Given the description of an element on the screen output the (x, y) to click on. 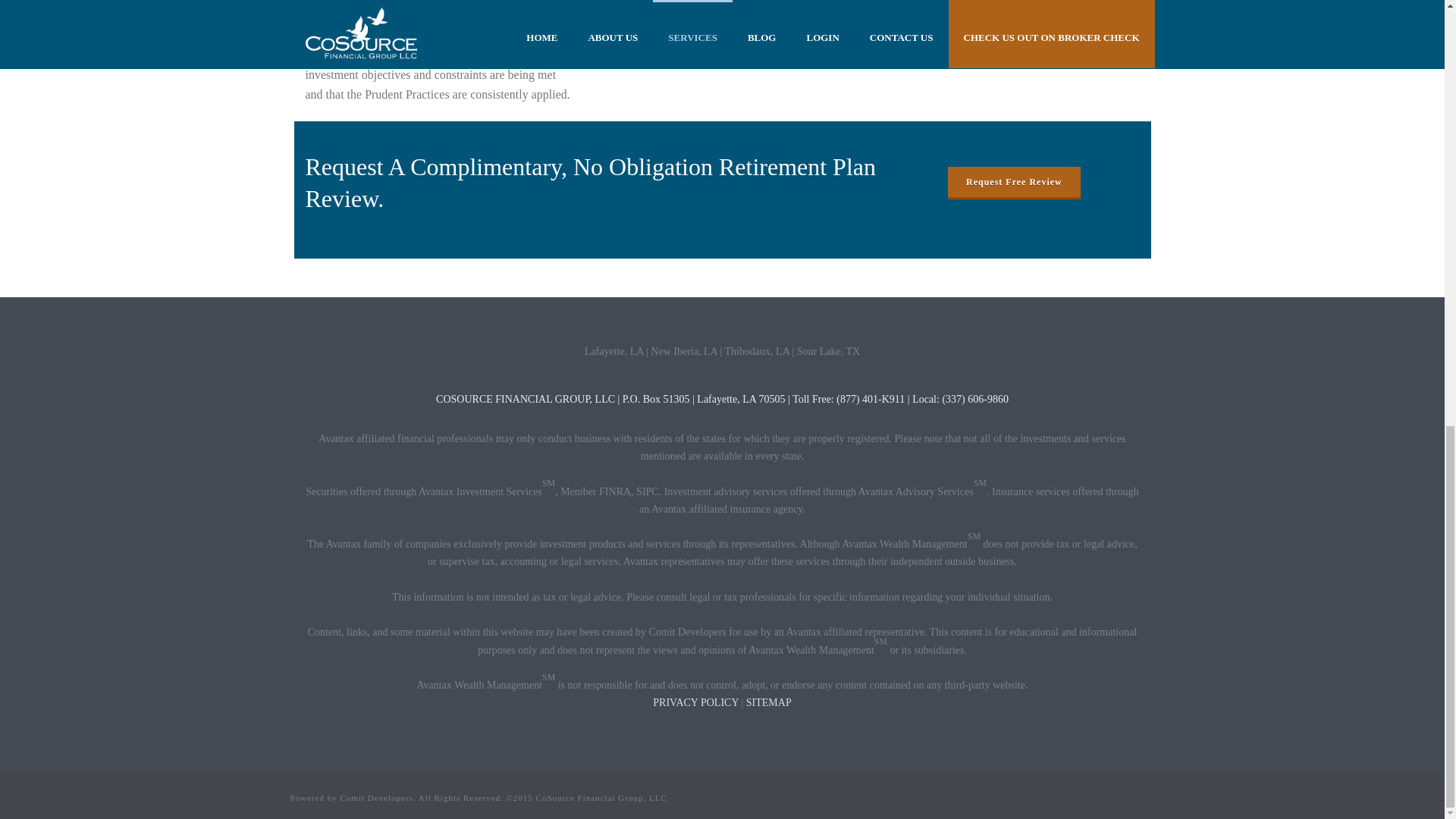
Request Free Review (1013, 182)
